Given the description of an element on the screen output the (x, y) to click on. 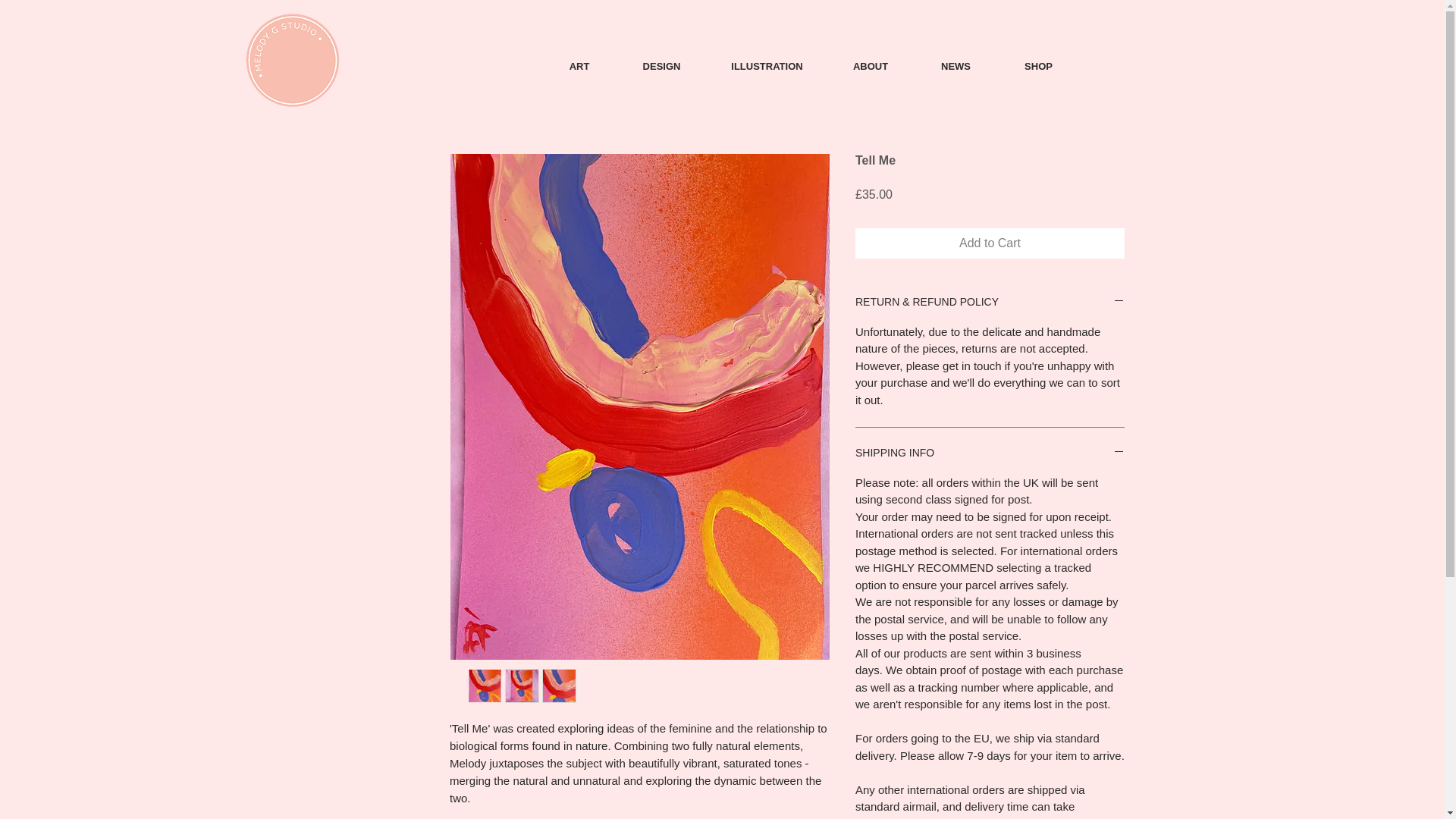
Add to Cart (990, 243)
SHIPPING INFO (990, 453)
ILLUSTRATION (766, 66)
NEWS (955, 66)
SHOP (1038, 66)
